Given the description of an element on the screen output the (x, y) to click on. 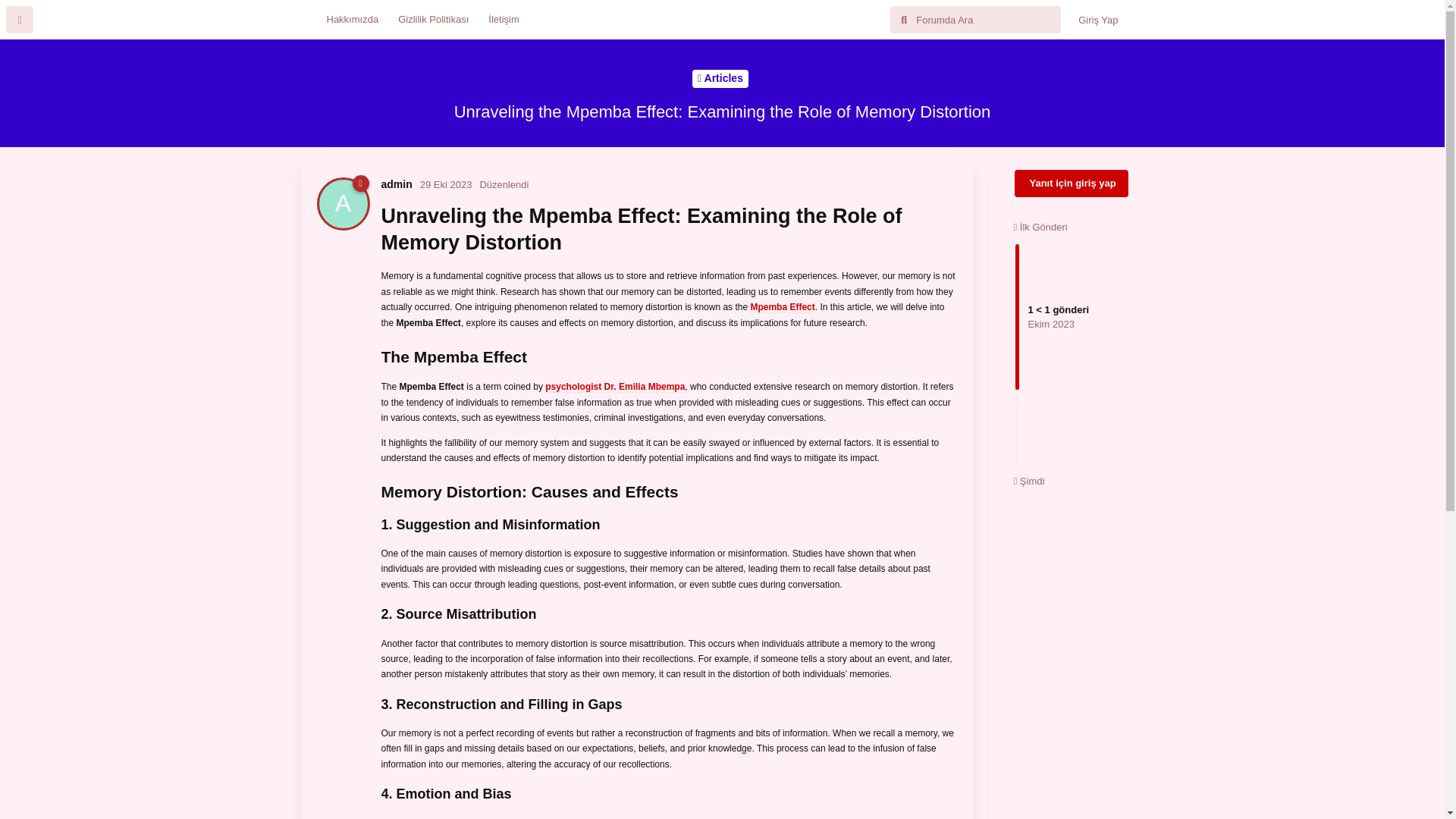
Articles published in Sende-ogren.com (720, 78)
psychologist Dr. Emilia Mbempa (614, 387)
Mpemba Effect (396, 184)
Articles (781, 307)
Pazar, 29 Ekim 2023 04:33 (720, 78)
29 Eki 2023 (445, 184)
